Given the description of an element on the screen output the (x, y) to click on. 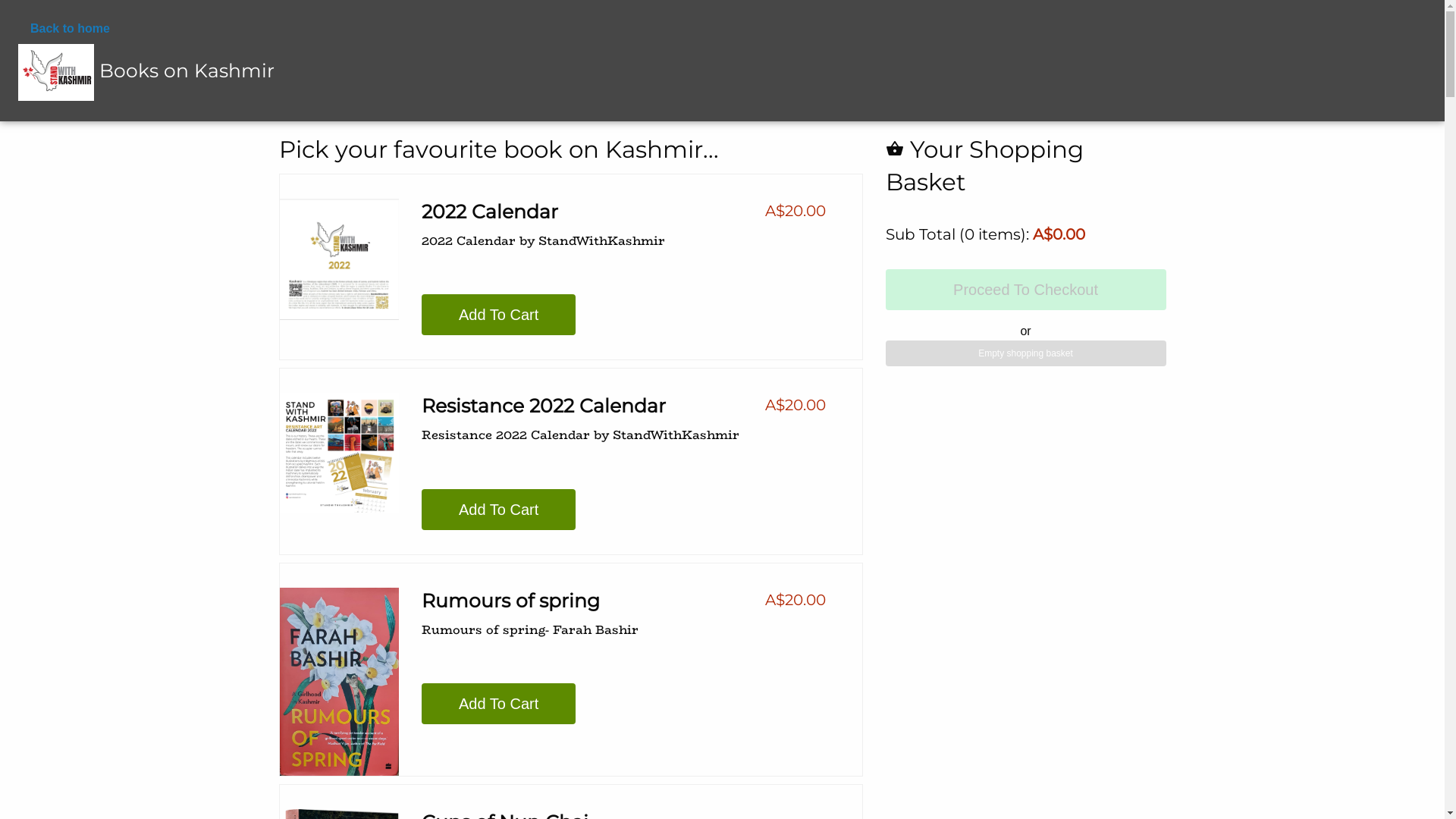
Add To Cart Element type: text (498, 314)
Empty shopping basket Element type: text (1025, 353)
Proceed To Checkout Element type: text (1025, 289)
Add To Cart Element type: text (498, 509)
Add To Cart Element type: text (498, 703)
Back to home Element type: text (146, 28)
